Given the description of an element on the screen output the (x, y) to click on. 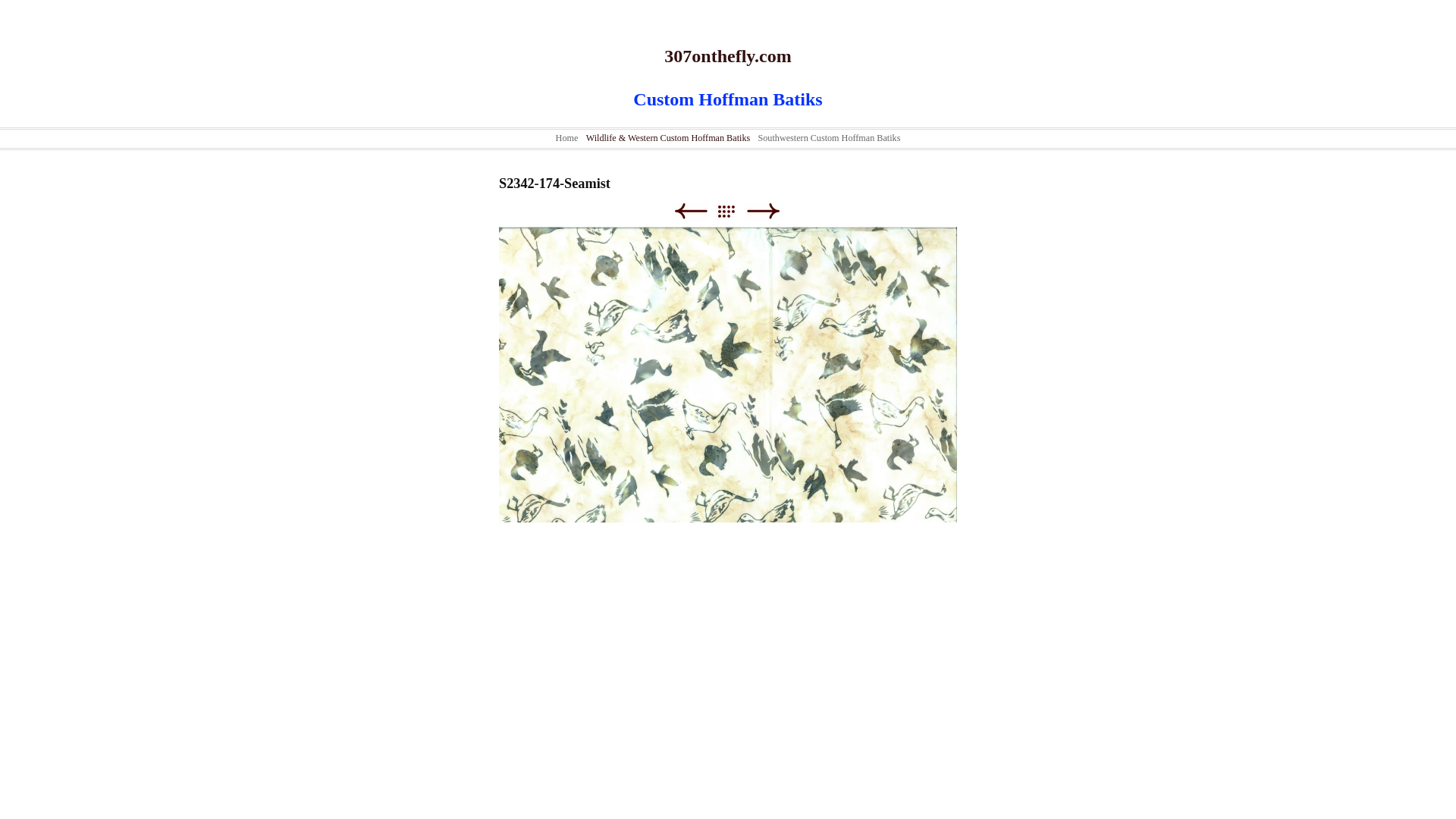
Home Element type: text (566, 137)
Previous Element type: text (690, 210)
Wildlife & Western Custom Hoffman Batiks Element type: text (668, 137)
Next Element type: text (762, 210)
307onthefly.com Element type: text (727, 55)
List Element type: text (733, 210)
Southwestern Custom Hoffman Batiks Element type: text (829, 137)
